Given the description of an element on the screen output the (x, y) to click on. 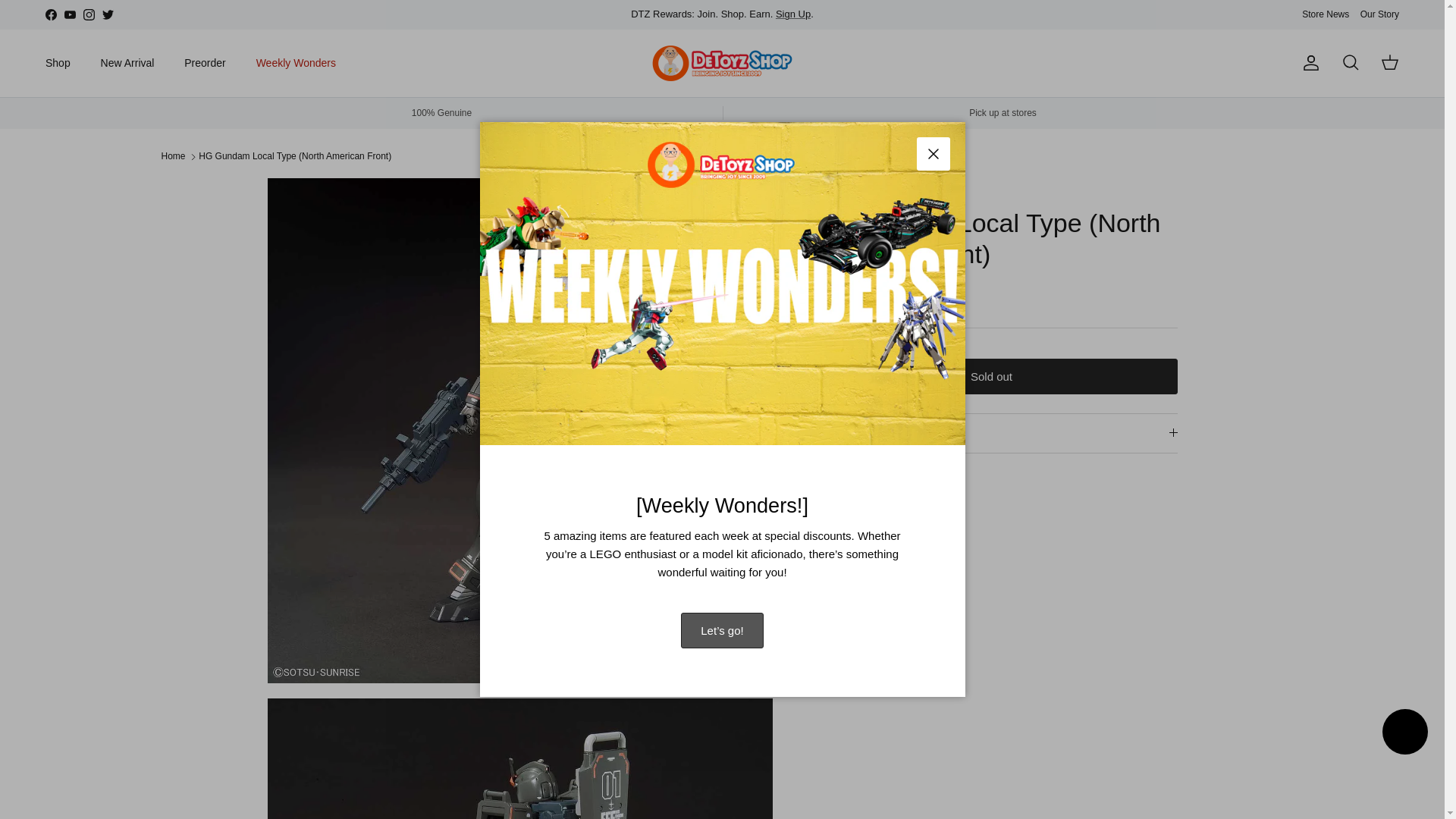
Instagram (88, 14)
De Toyz Shop on Instagram (88, 14)
Store News (1325, 13)
De Toyz Shop (722, 63)
New Arrival (127, 62)
Facebook (50, 14)
Weekly Wonders (296, 62)
Shopify online store chat (1404, 733)
Preorder (204, 62)
Twitter (107, 14)
Our Story (1379, 13)
Tweet on X (843, 498)
Sign Up (793, 13)
Shop (58, 62)
Pin on Pinterest (881, 498)
